Given the description of an element on the screen output the (x, y) to click on. 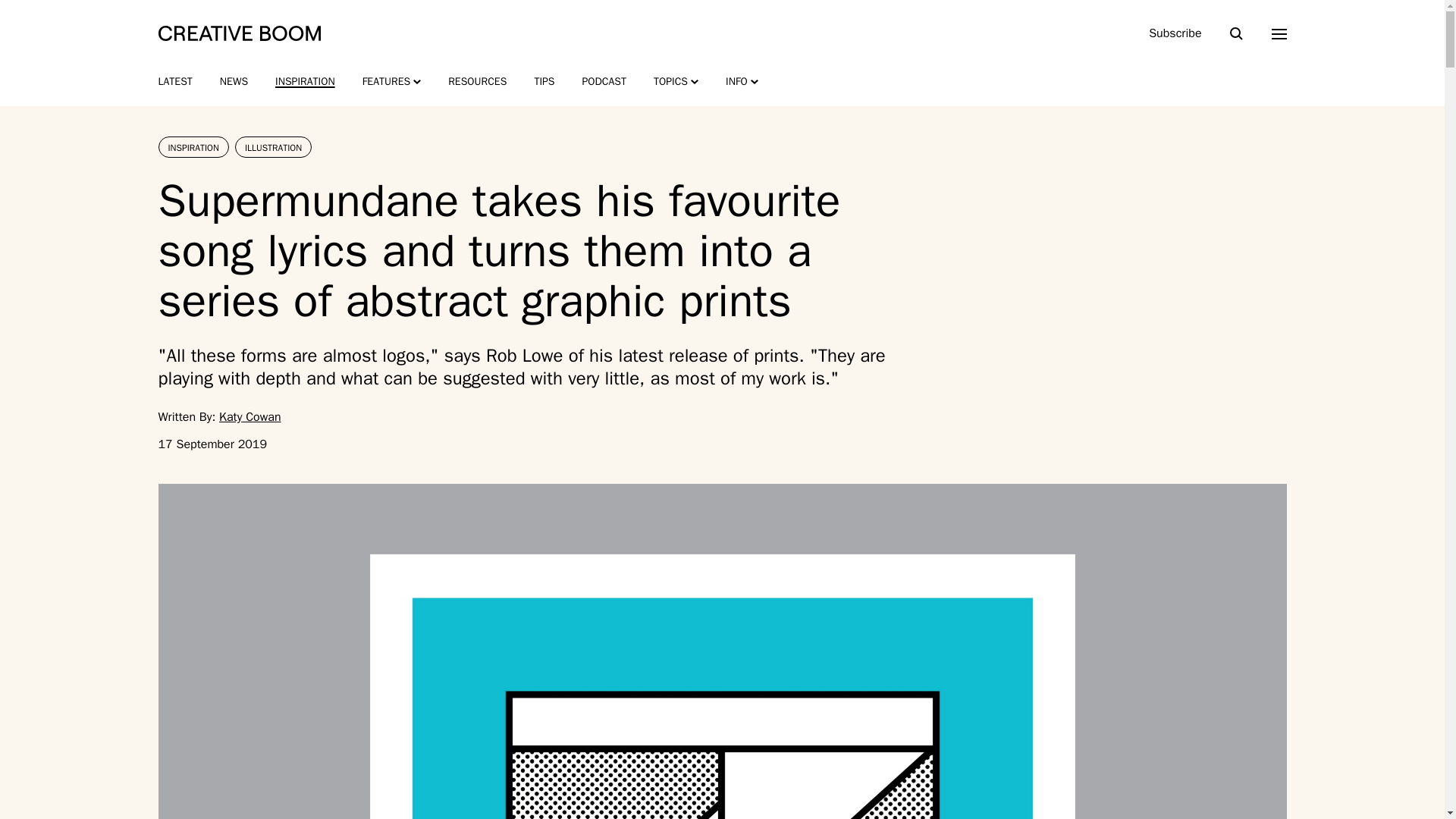
FEATURES (392, 81)
PODCAST (604, 81)
INSPIRATION (304, 81)
Subscribe (1174, 33)
RESOURCES (477, 81)
TOPICS (675, 81)
